Given the description of an element on the screen output the (x, y) to click on. 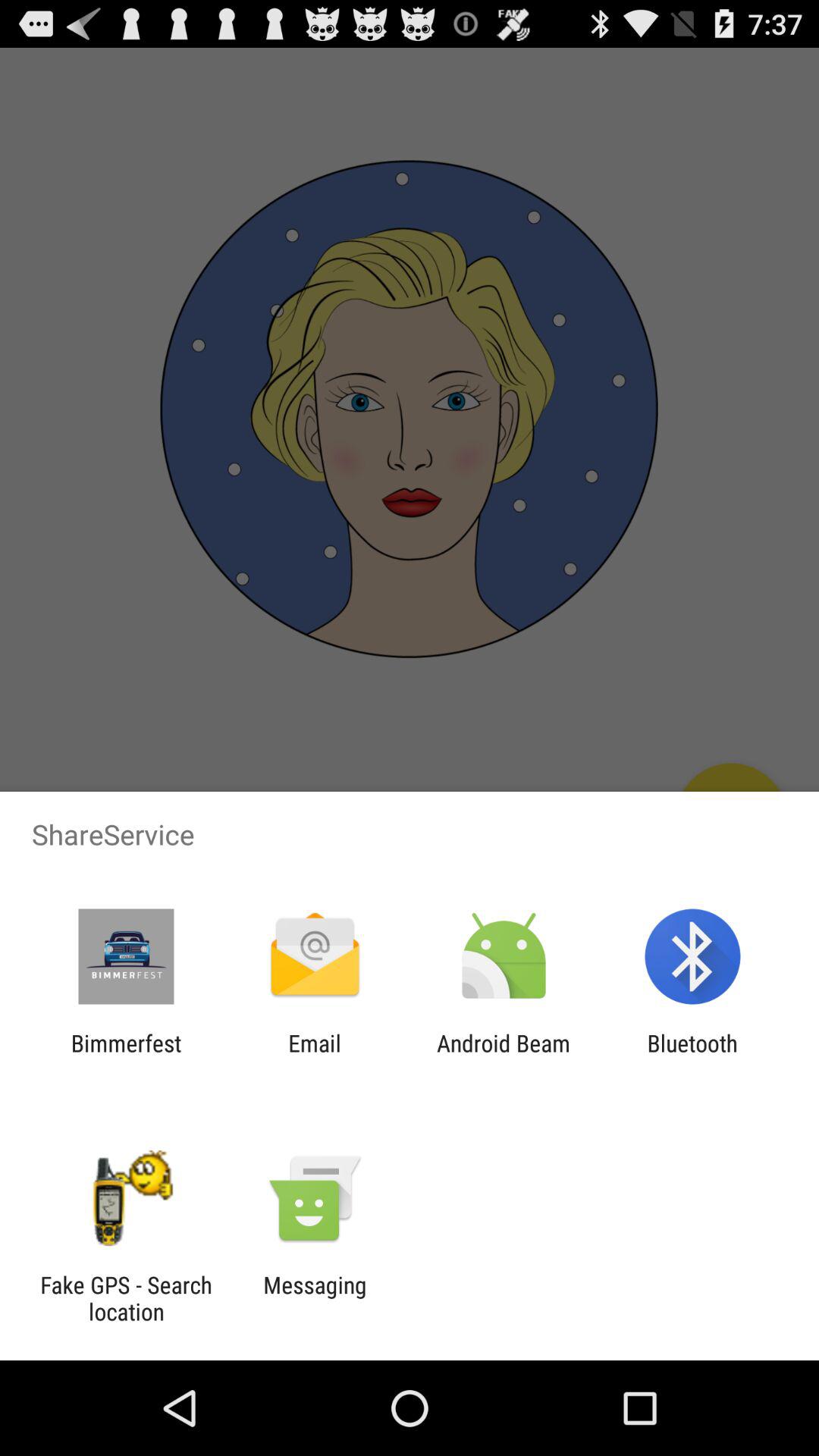
turn on the android beam (503, 1056)
